Given the description of an element on the screen output the (x, y) to click on. 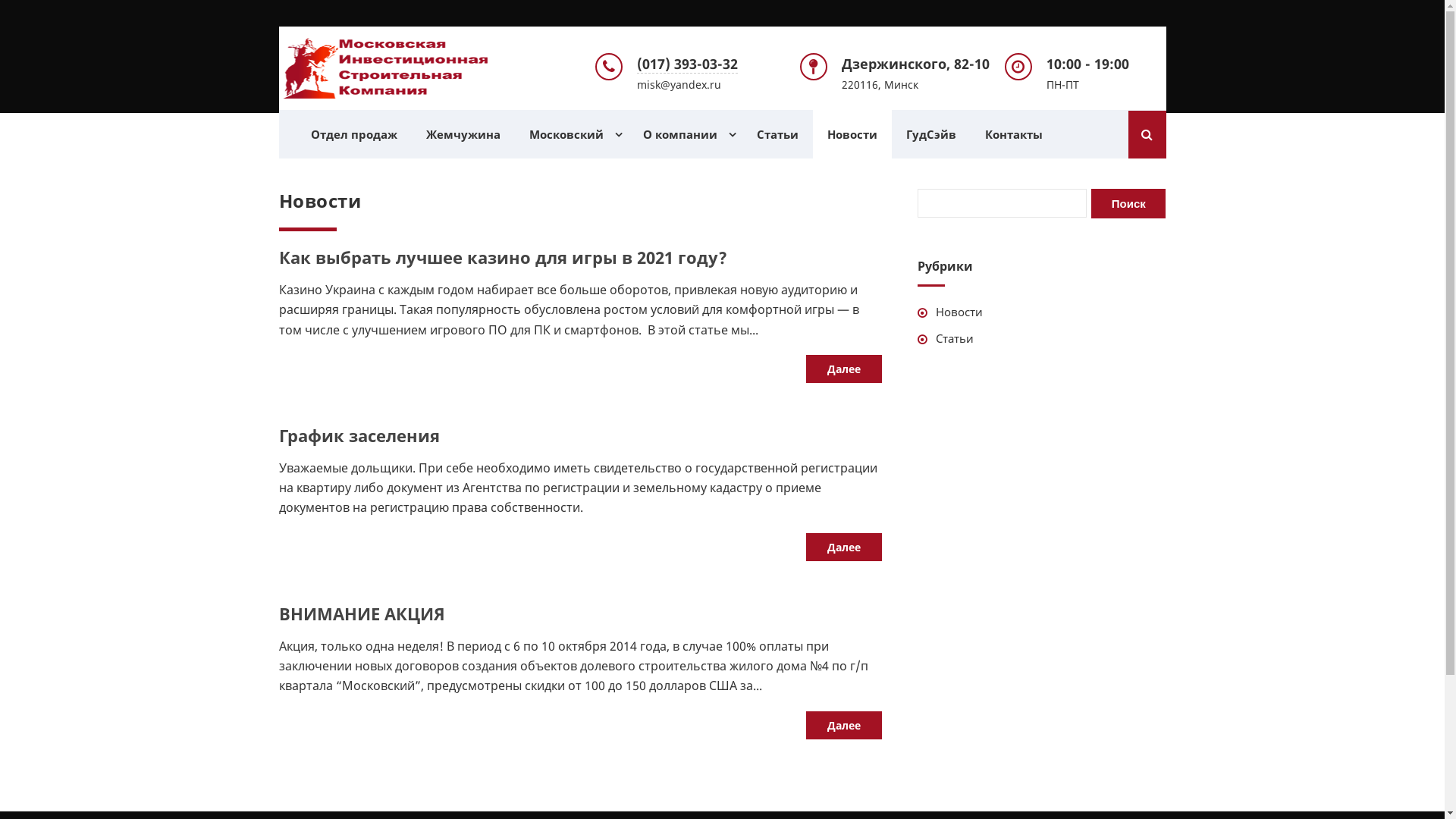
(017) 393-03-32 Element type: text (687, 63)
